Given the description of an element on the screen output the (x, y) to click on. 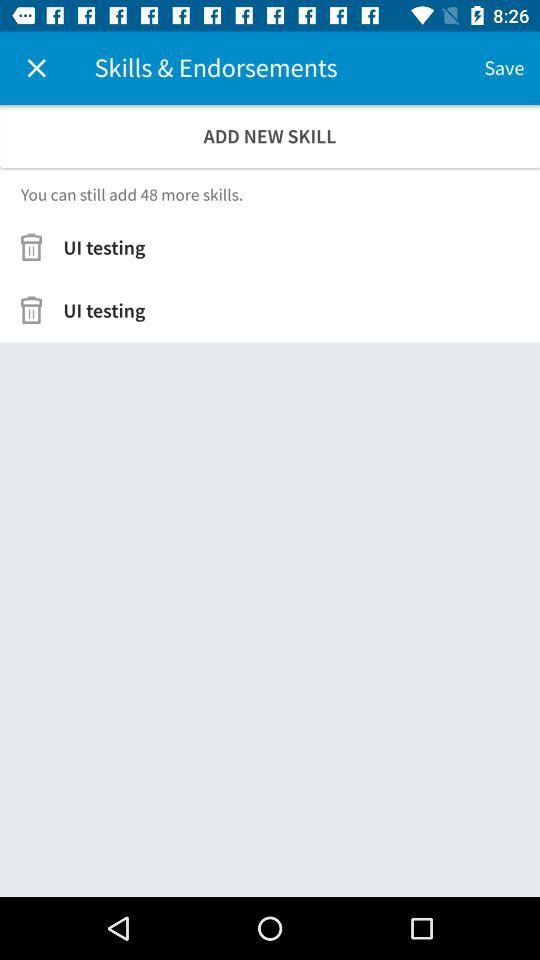
turn off add new skill icon (270, 136)
